Given the description of an element on the screen output the (x, y) to click on. 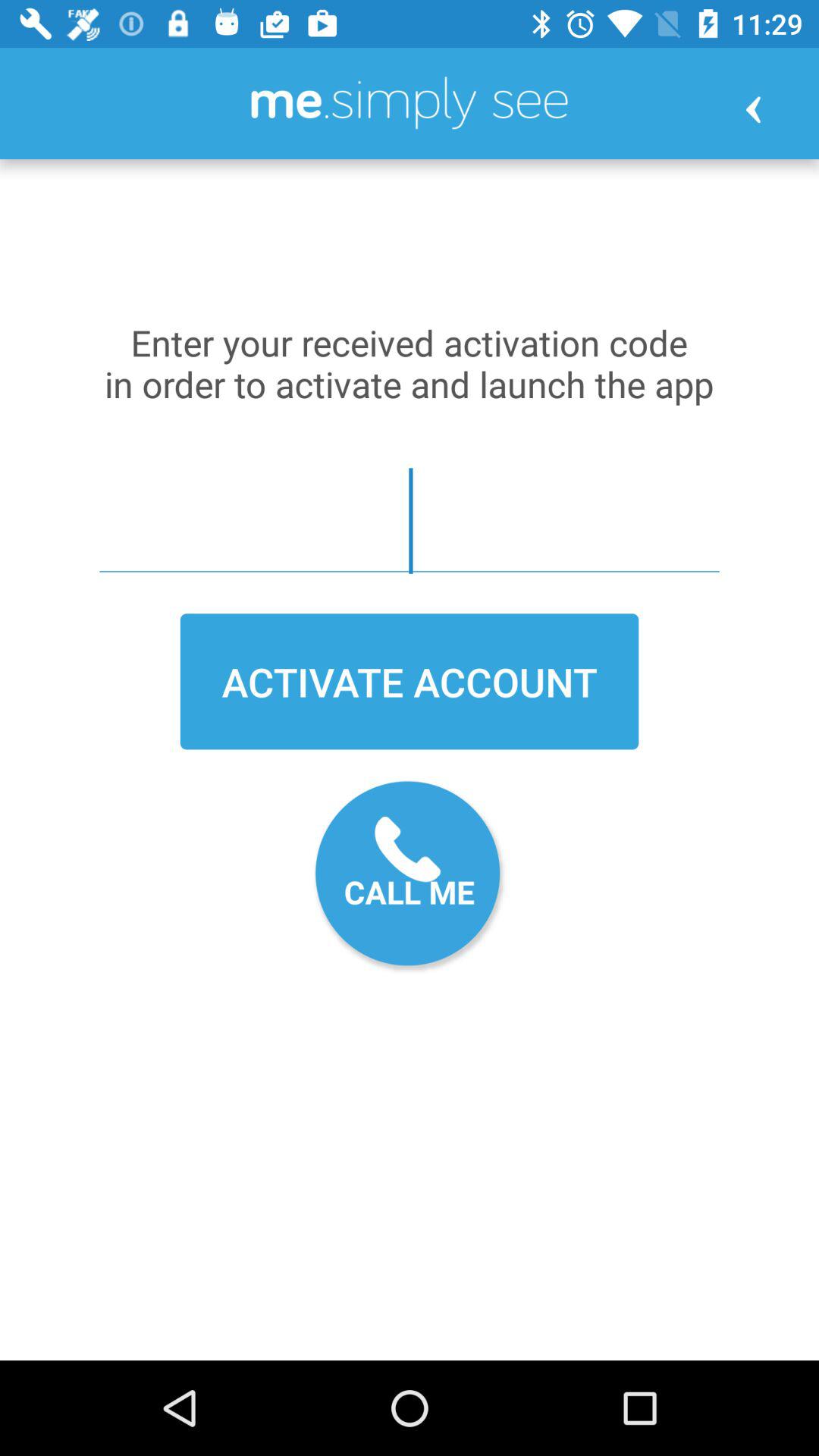
go back (753, 109)
